Given the description of an element on the screen output the (x, y) to click on. 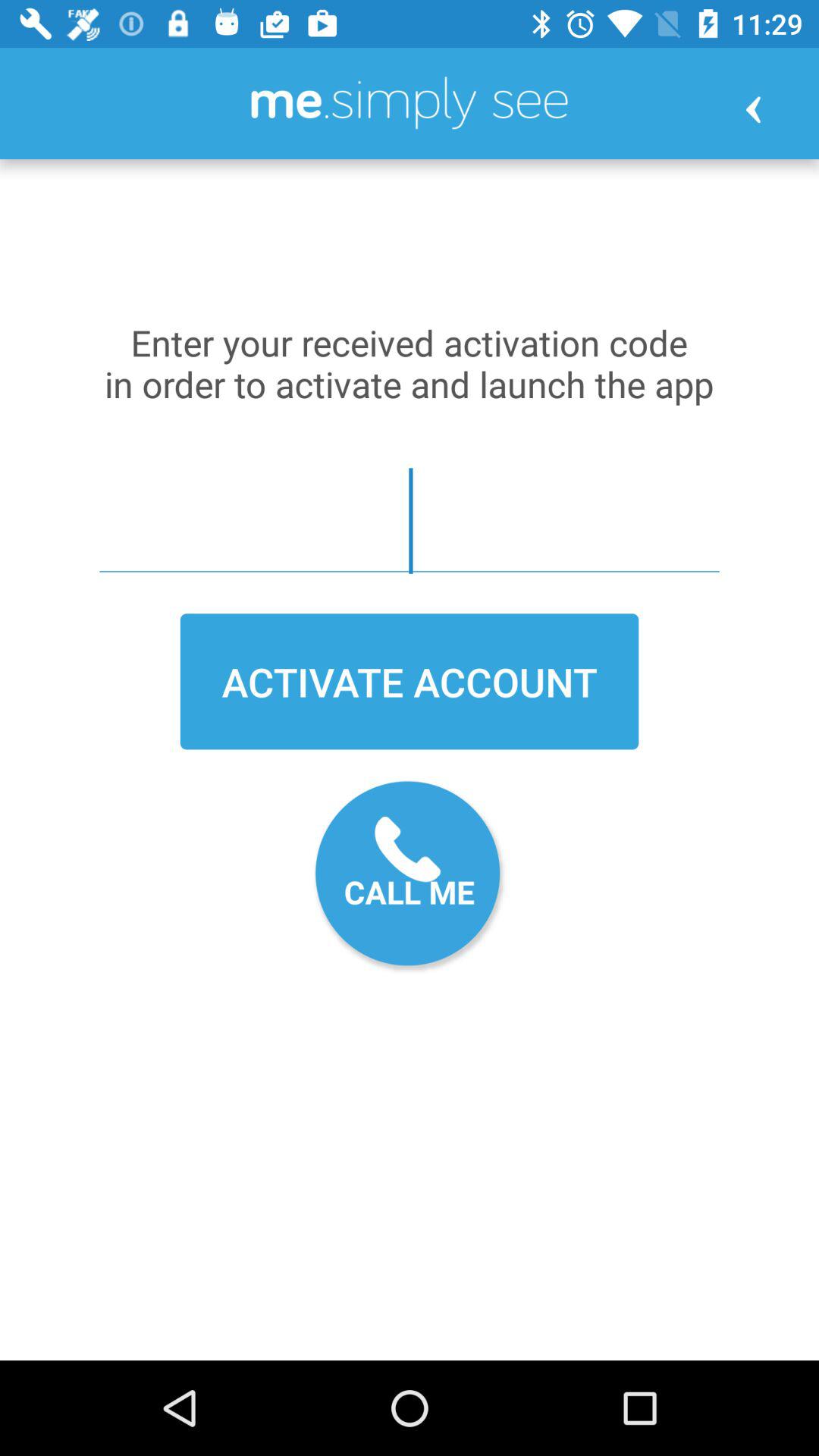
go back (753, 109)
